Given the description of an element on the screen output the (x, y) to click on. 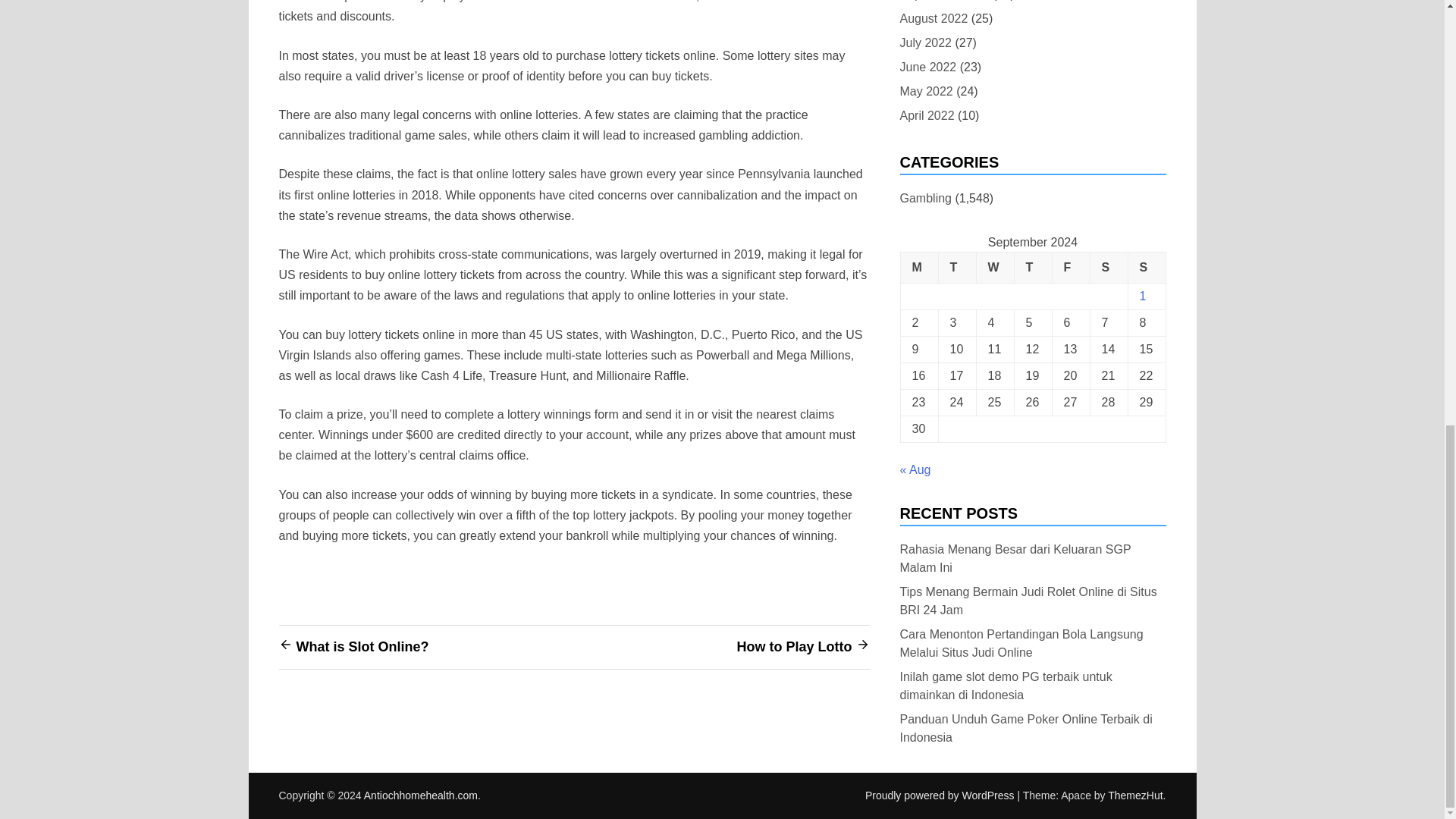
Antiochhomehealth.com (420, 795)
August 2022 (933, 18)
Saturday (1107, 267)
Sunday (1146, 267)
Thursday (1032, 267)
July 2022 (925, 42)
Tuesday (956, 267)
September 2022 (943, 2)
Monday (918, 267)
What is Slot Online? (361, 646)
